Given the description of an element on the screen output the (x, y) to click on. 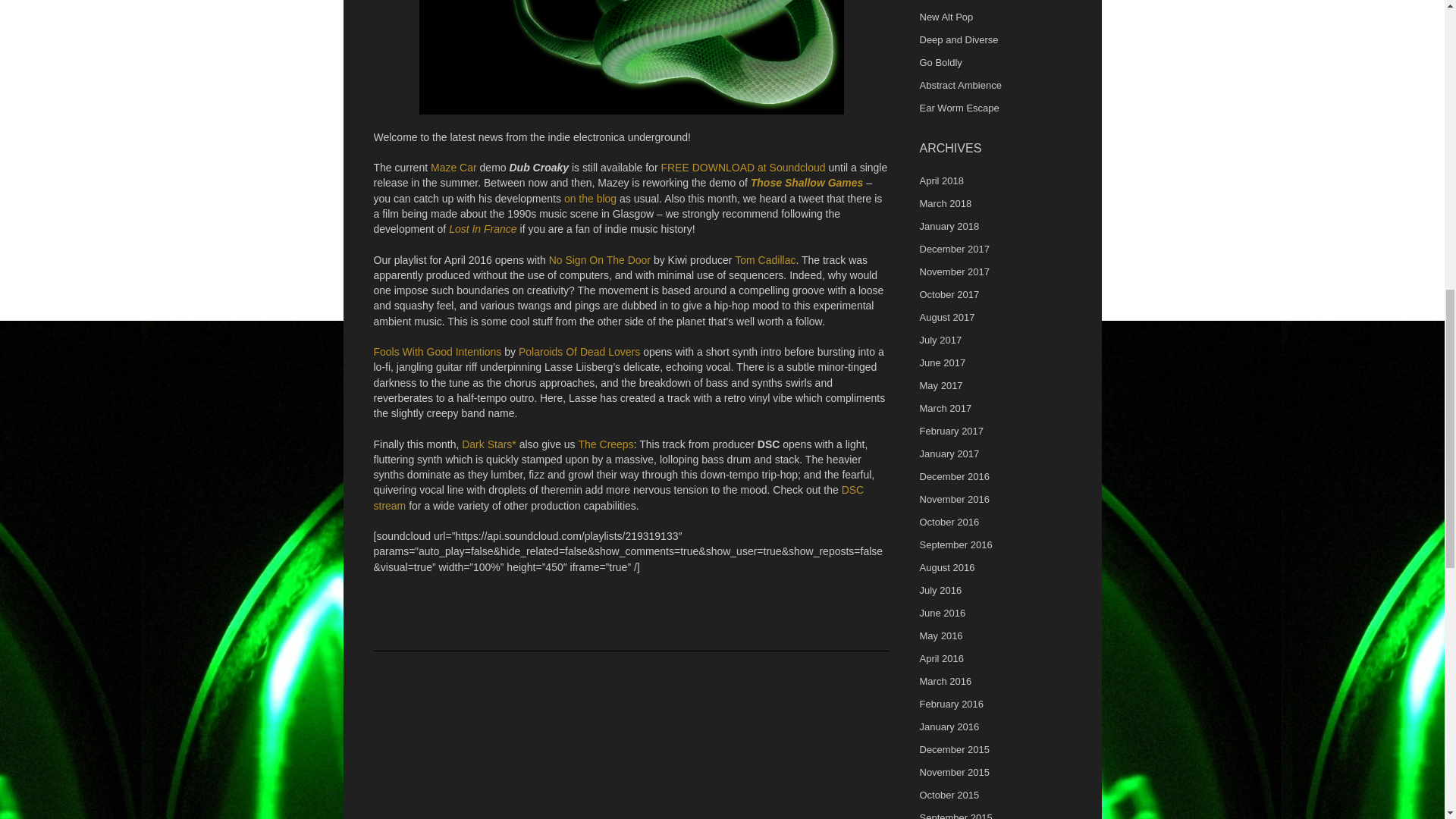
No Sign On The Door (599, 259)
Those Shallow Games (807, 182)
Fools With Good Intentions (436, 351)
Maze Car (453, 167)
The Creeps (605, 444)
Lost In France (482, 228)
Polaroids Of Dead Lovers (579, 351)
Tom Cadillac (764, 259)
FREE DOWNLOAD at Soundcloud (743, 167)
DSC stream (617, 497)
